Given the description of an element on the screen output the (x, y) to click on. 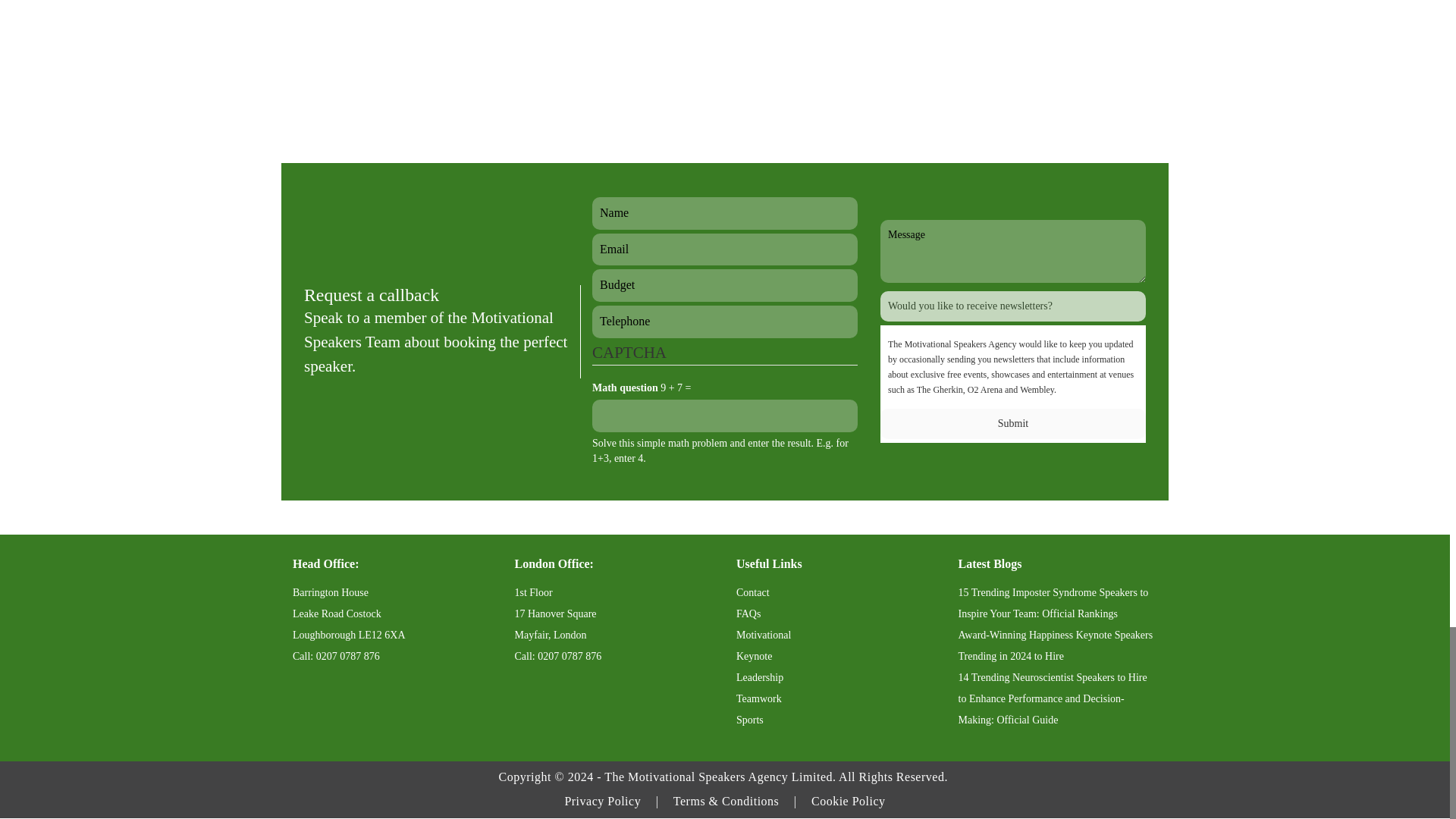
Submit (1012, 423)
